Given the description of an element on the screen output the (x, y) to click on. 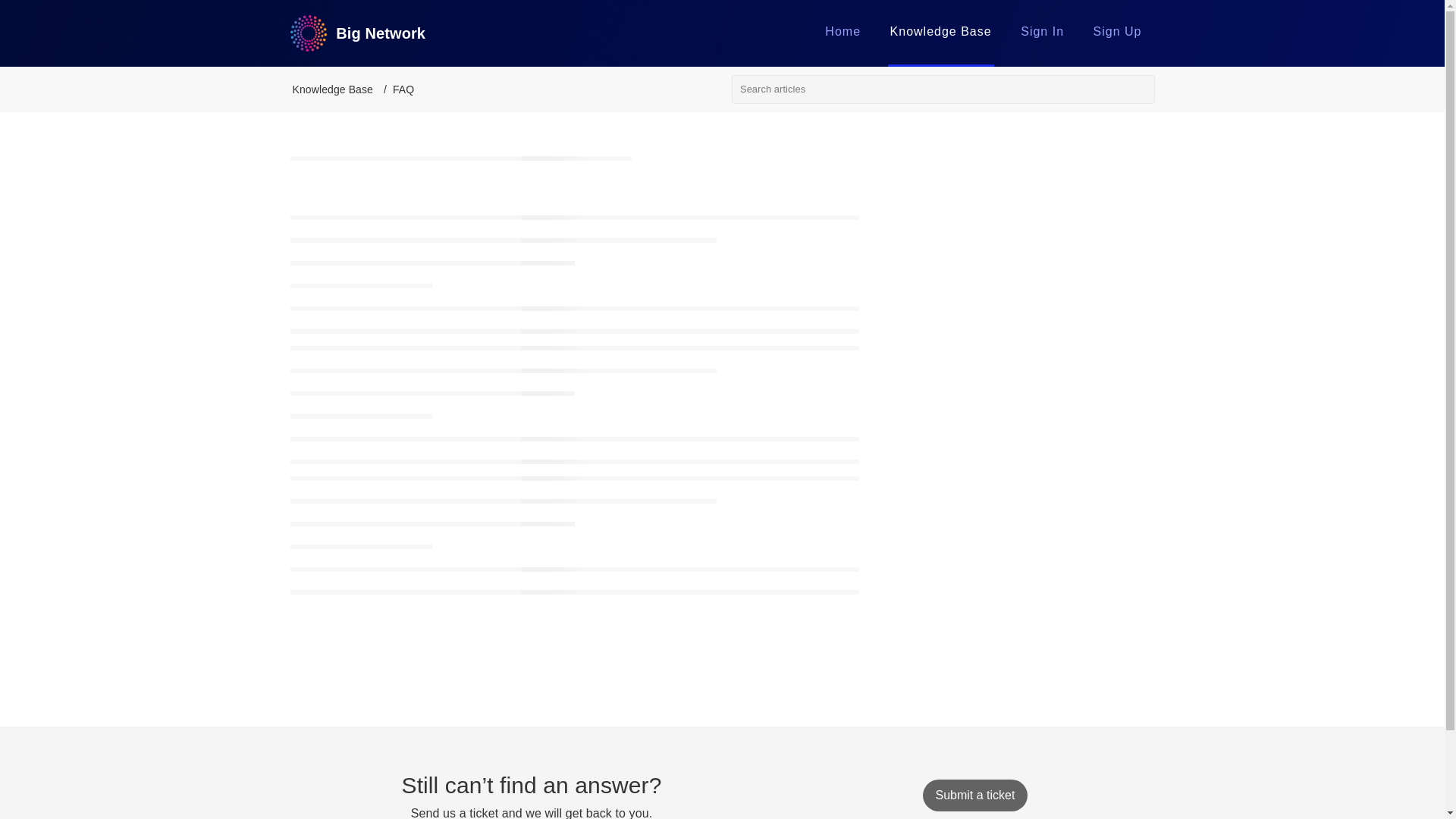
Knowledge Base (940, 31)
FAQ (403, 89)
Knowledge Base (940, 31)
Submit a ticket (974, 795)
Submit a ticket (974, 794)
Home (842, 31)
Sign In (1042, 31)
Sign Up (1117, 31)
Home (842, 31)
Knowledge Base (332, 89)
